Given the description of an element on the screen output the (x, y) to click on. 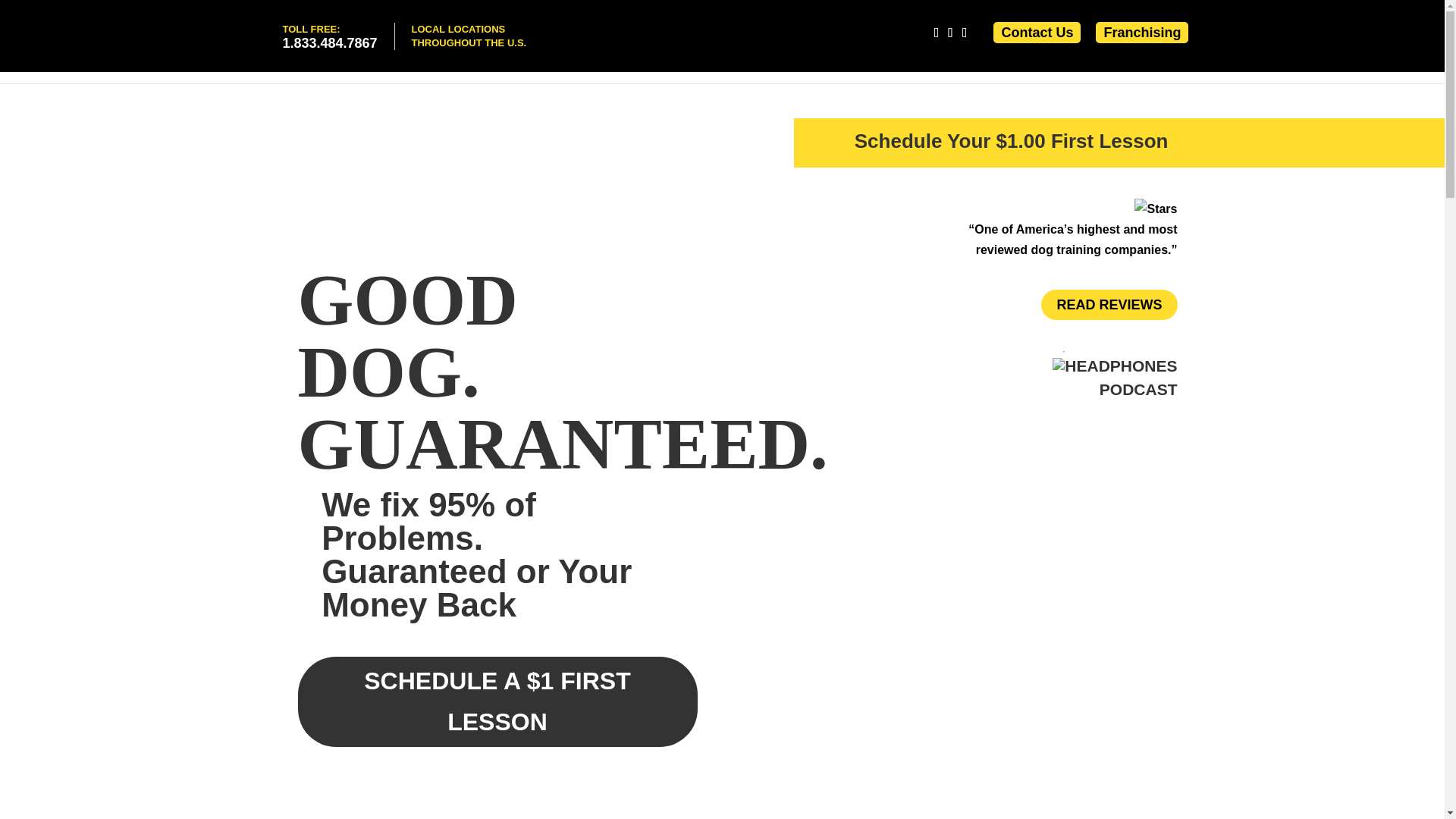
Group Class Schedules (1361, 65)
Schedule Lesson (915, 65)
Contact Us (1036, 31)
Training Services (1175, 65)
About Us (832, 65)
Testimonials (1075, 65)
Franchising (1142, 31)
PODCAST (329, 36)
READ REVIEWS (1138, 389)
